Given the description of an element on the screen output the (x, y) to click on. 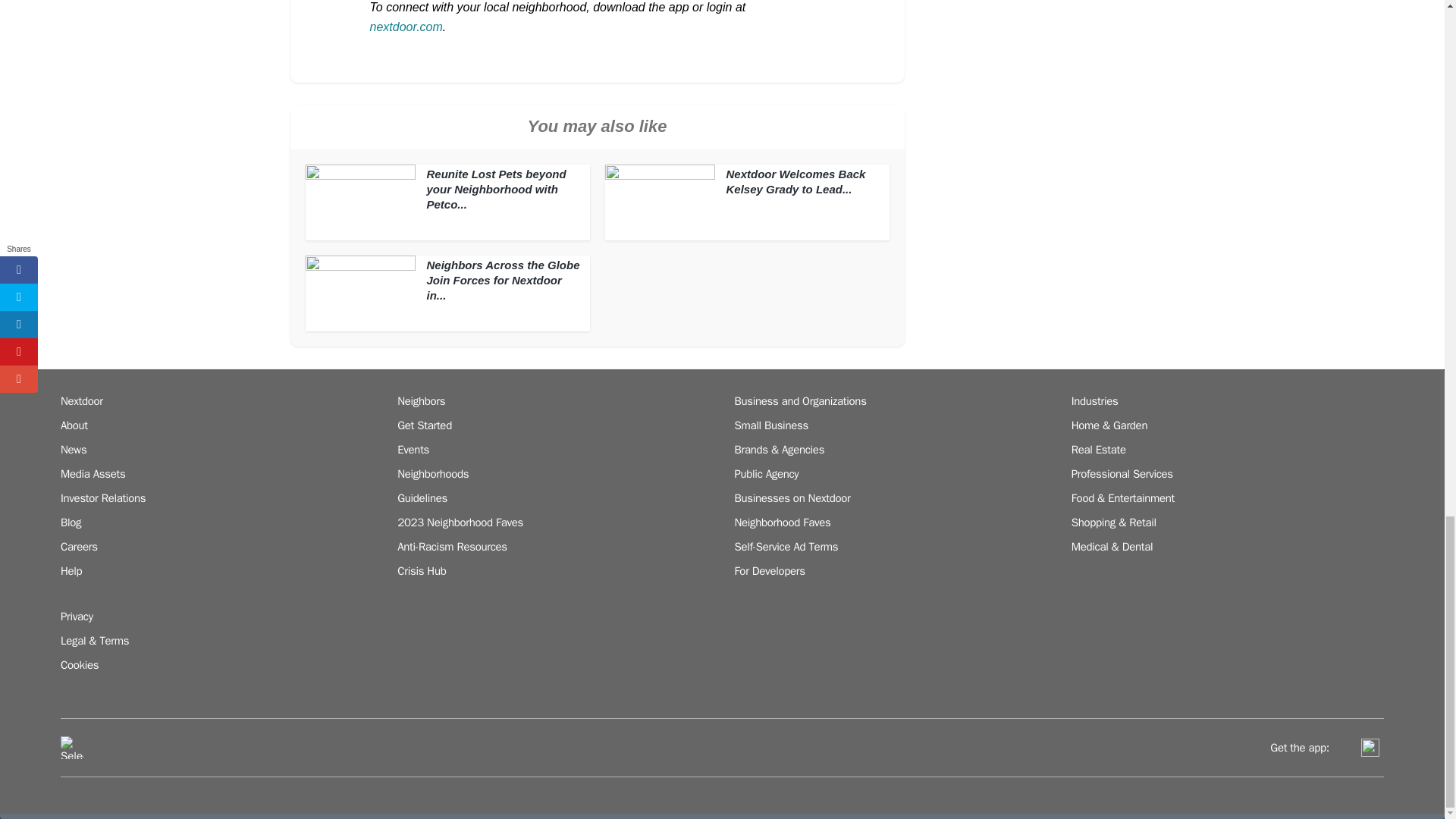
Reunite Lost Pets beyond your Neighborhood with Petco Love (496, 188)
Reunite Lost Pets beyond your Neighborhood with Petco... (496, 188)
Neighbors Across the Globe Join Forces for Nextdoor in... (502, 280)
nextdoor.com (405, 26)
Nextdoor Welcomes Back Kelsey Grady to Lead... (796, 181)
